Given the description of an element on the screen output the (x, y) to click on. 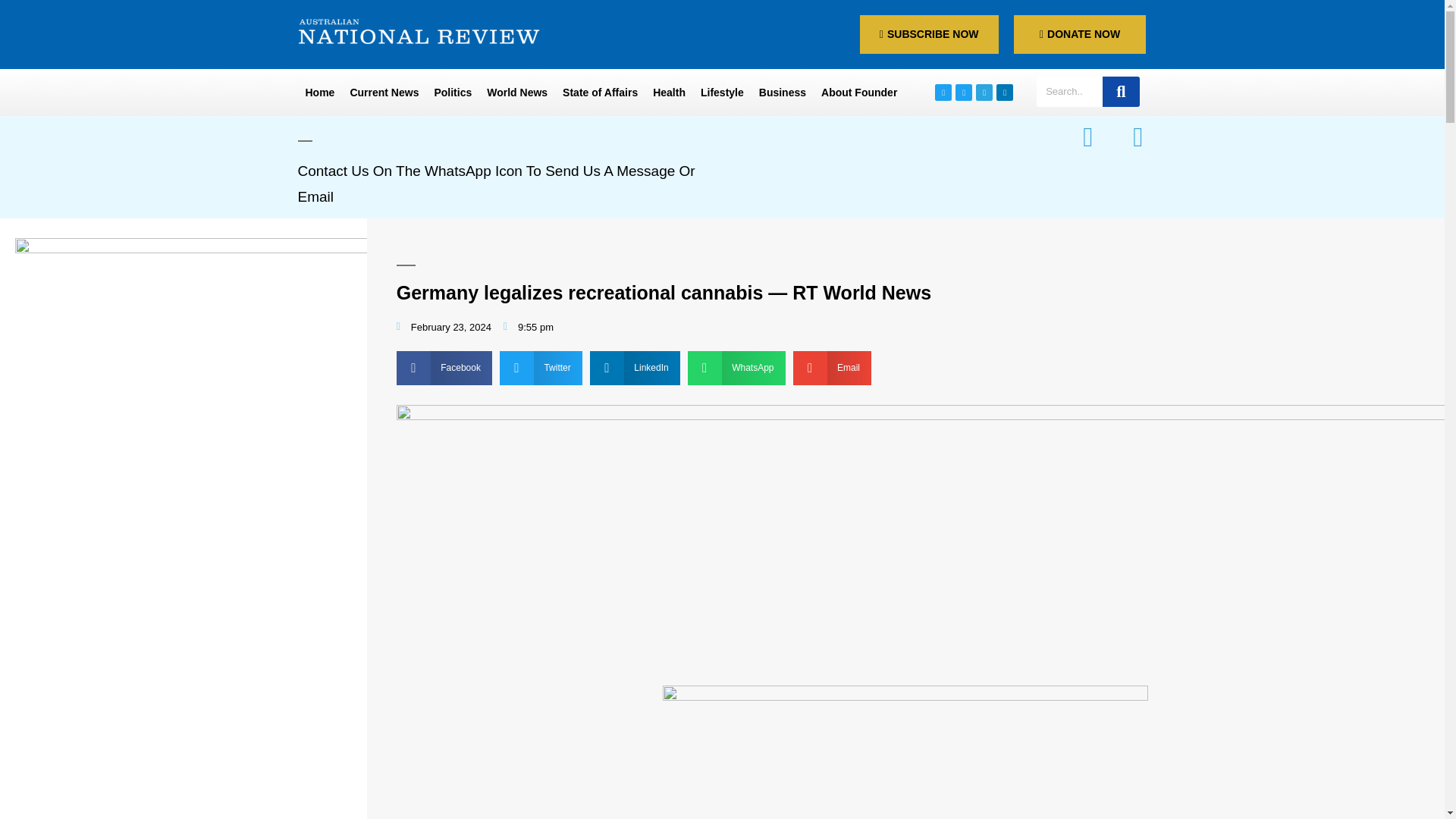
Business (782, 92)
Current News (384, 92)
Lifestyle (722, 92)
SUBSCRIBE NOW (929, 34)
Politics (452, 92)
DONATE NOW (1080, 34)
State of Affairs (599, 92)
World News (516, 92)
Home (319, 92)
About Founder (858, 92)
Health (669, 92)
